Given the description of an element on the screen output the (x, y) to click on. 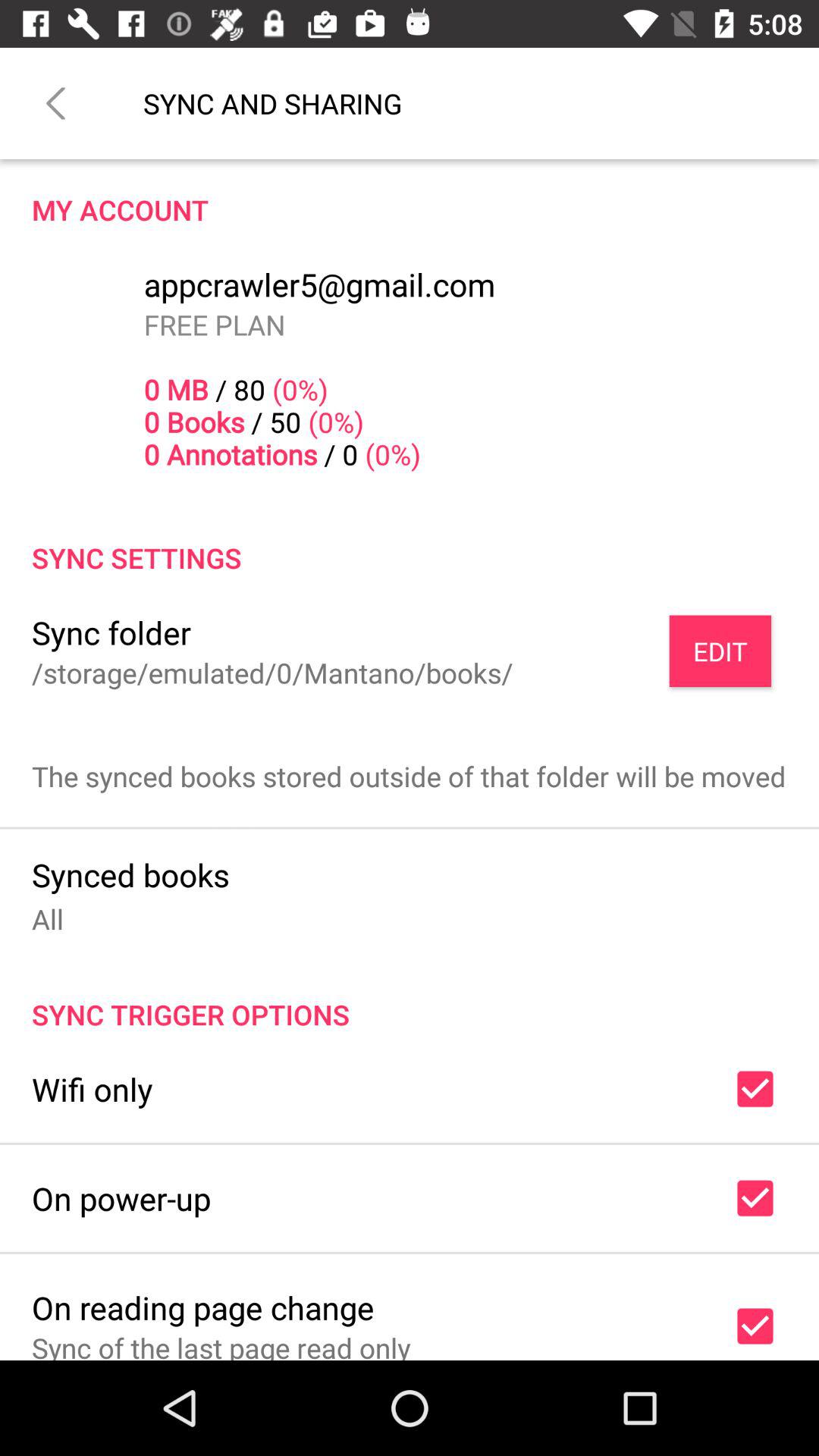
press item below all item (409, 998)
